Given the description of an element on the screen output the (x, y) to click on. 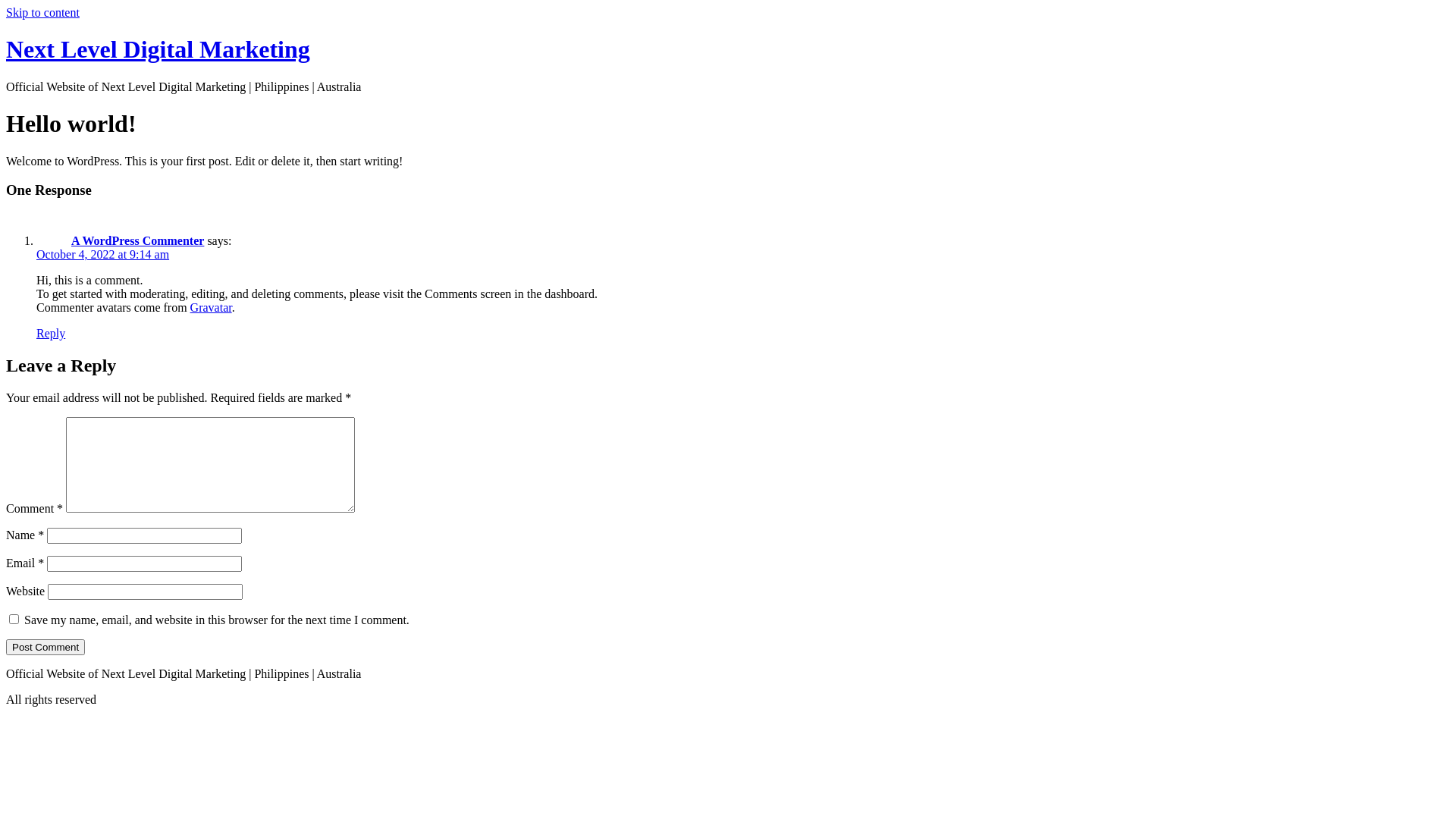
Reply Element type: text (50, 332)
A WordPress Commenter Element type: text (137, 240)
Next Level Digital Marketing Element type: text (158, 48)
Post Comment Element type: text (45, 647)
Skip to content Element type: text (42, 12)
October 4, 2022 at 9:14 am Element type: text (102, 253)
Gravatar Element type: text (211, 307)
